Given the description of an element on the screen output the (x, y) to click on. 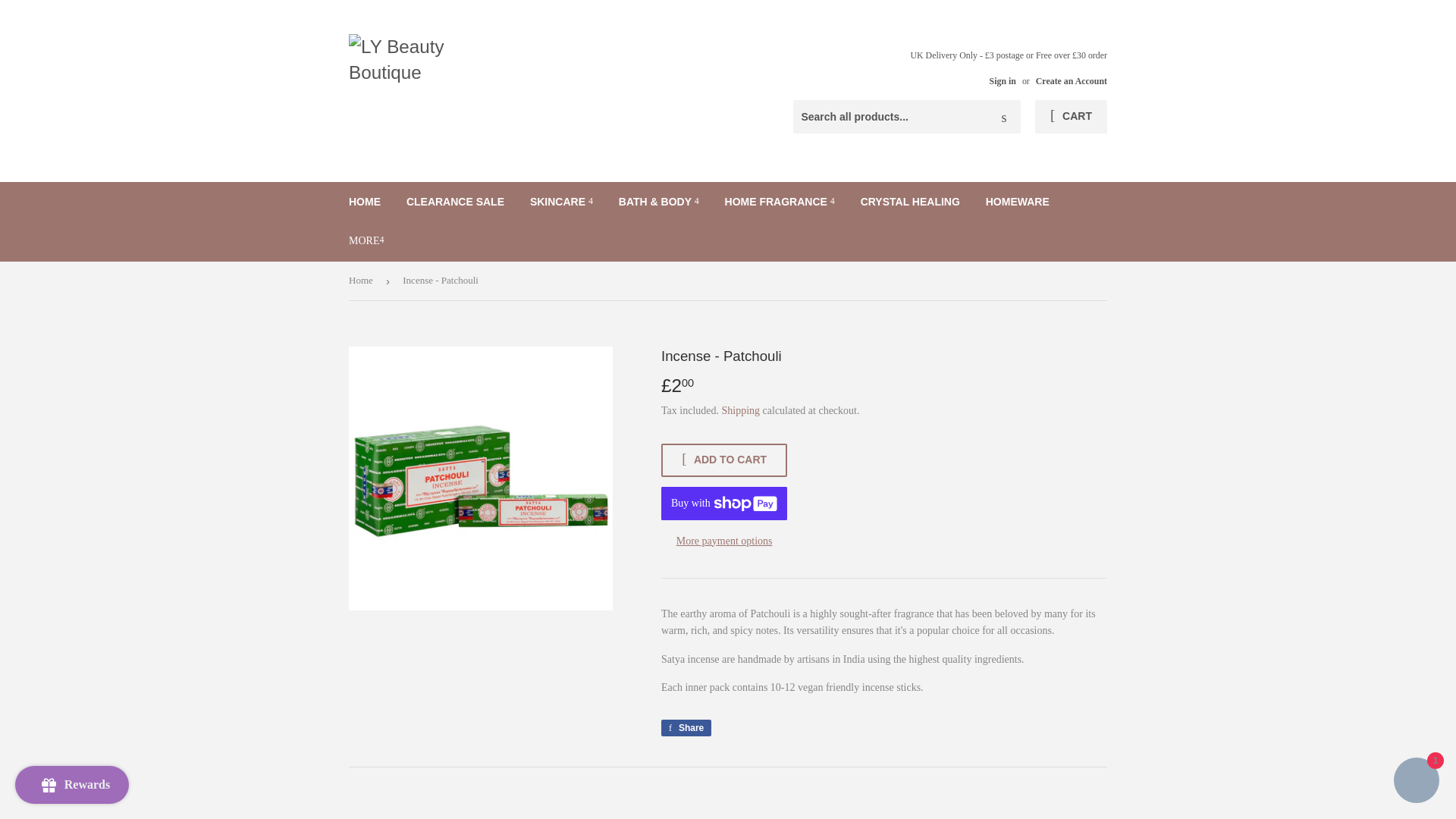
Shopify online store chat (1416, 781)
Sign in (1003, 81)
Share on Facebook (686, 727)
CART (1070, 116)
Create an Account (1070, 81)
Search (1003, 117)
